Given the description of an element on the screen output the (x, y) to click on. 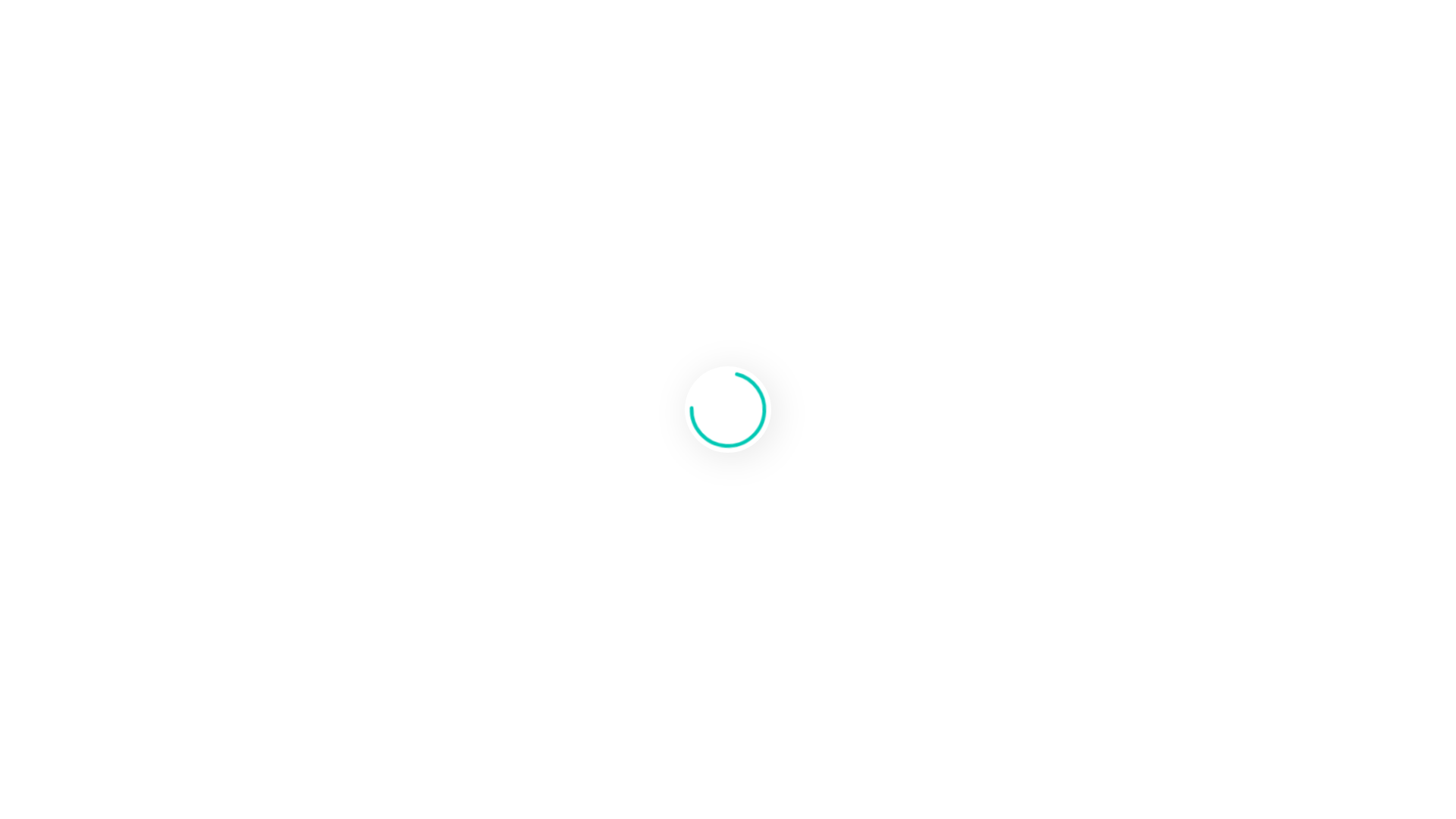
ABOUT Element type: text (396, 179)
CONTACT Element type: text (1106, 179)
Apply Now Element type: text (37, 490)
CERTIFICATION Element type: text (709, 179)
STUDENTS Element type: text (605, 179)
HOME Element type: text (337, 179)
CERTIFICATE VALIDATOR Element type: text (972, 179)
MEMBERSHIP Element type: text (824, 179)
QUALIFICATIONS Element type: text (494, 179)
Certified Public Accountants and Tax Advisers, Bangladesh Element type: text (728, 91)
